Given the description of an element on the screen output the (x, y) to click on. 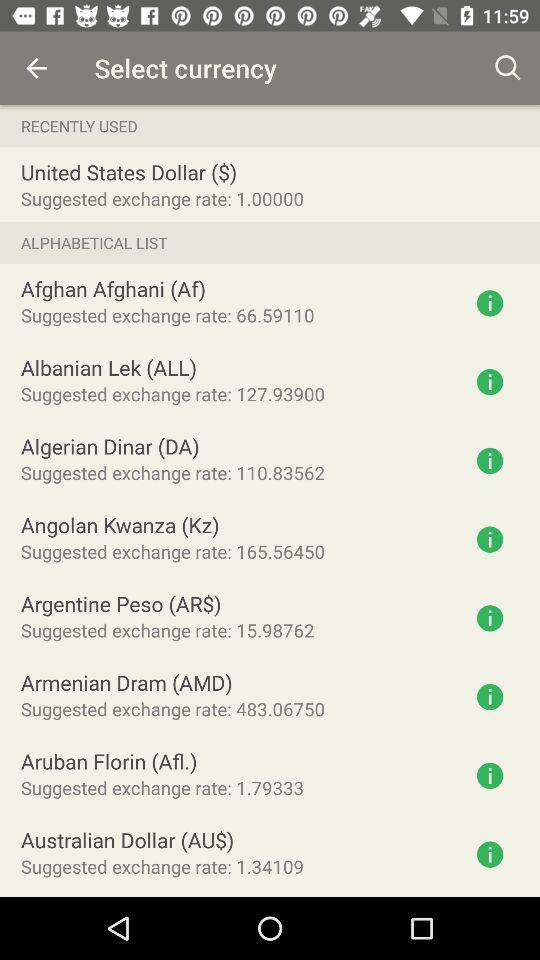
provides info (490, 697)
